Given the description of an element on the screen output the (x, y) to click on. 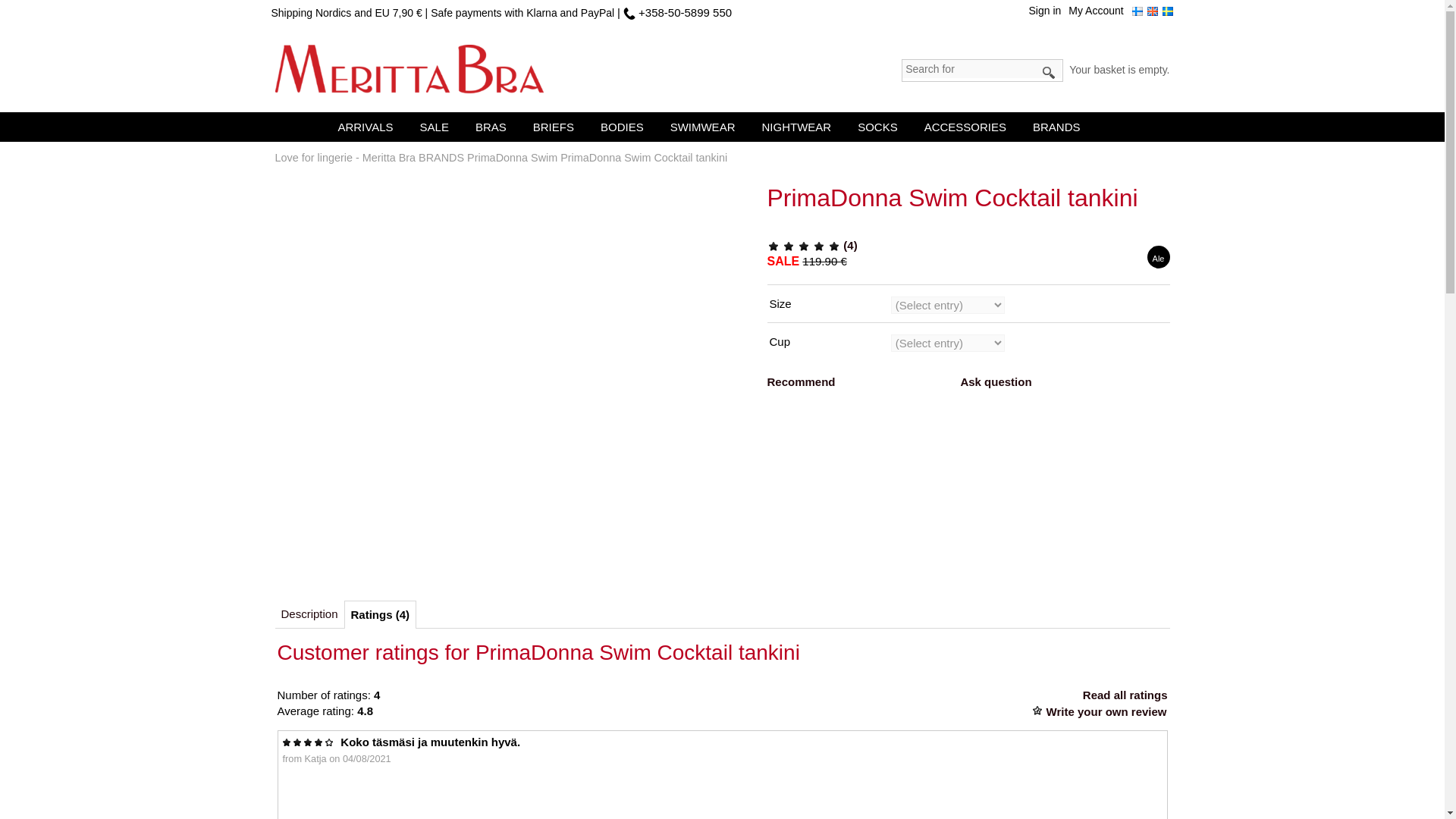
Average rating: 4.75 of 5 (772, 246)
Average rating: 4.75 of 5 (818, 246)
BRIEFS (556, 126)
Start search (1049, 72)
ARRIVALS (368, 126)
Meritta Bra (409, 70)
My Account (1099, 14)
SALE (438, 126)
Sign in (1048, 14)
BRAS (494, 126)
Average rating: 4.75 of 5 (788, 246)
BODIES (624, 126)
Average rating: 4.75 of 5 (834, 246)
Average rating: 4.75 of 5 (803, 246)
